Given the description of an element on the screen output the (x, y) to click on. 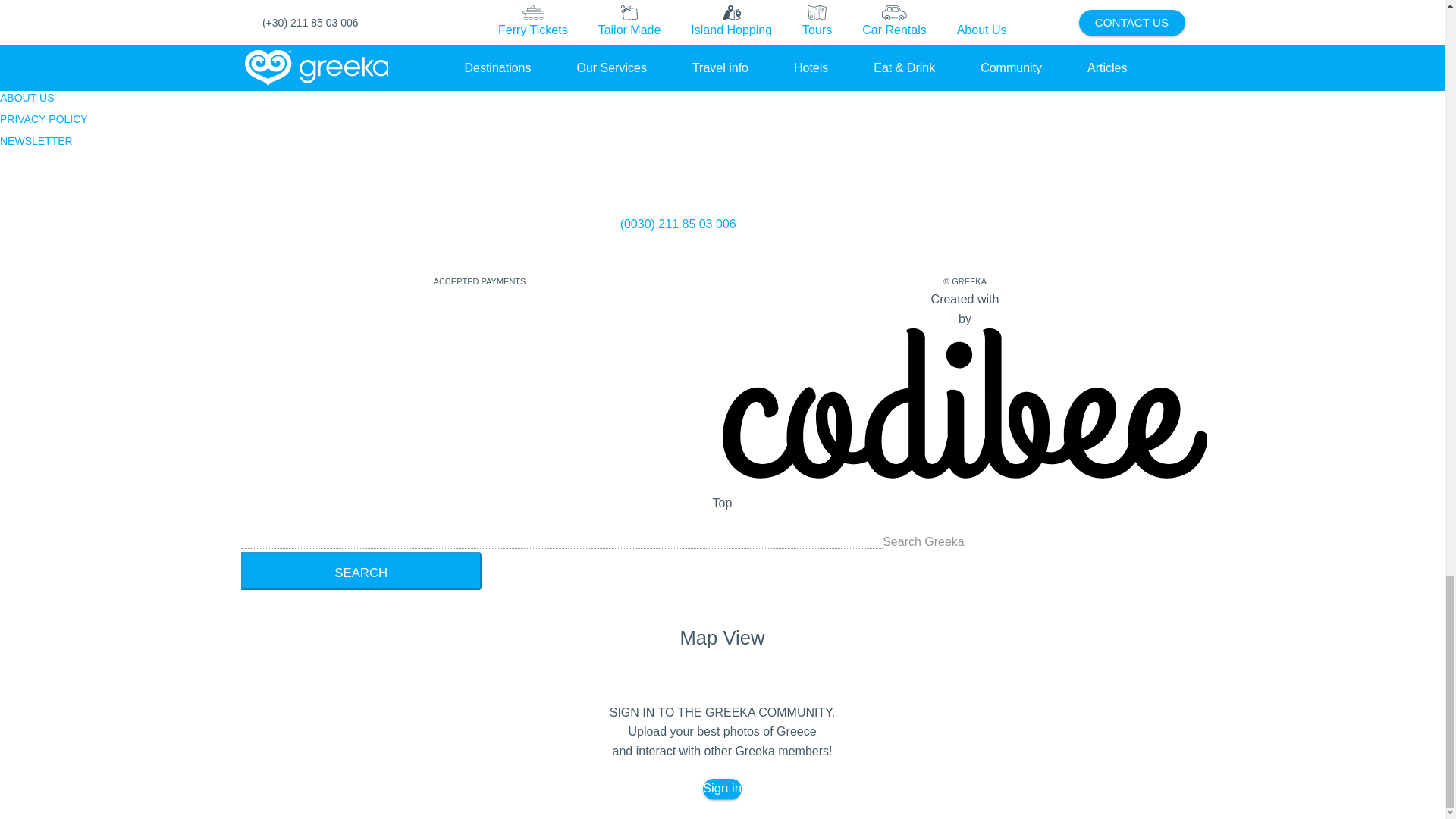
Search (361, 570)
